Given the description of an element on the screen output the (x, y) to click on. 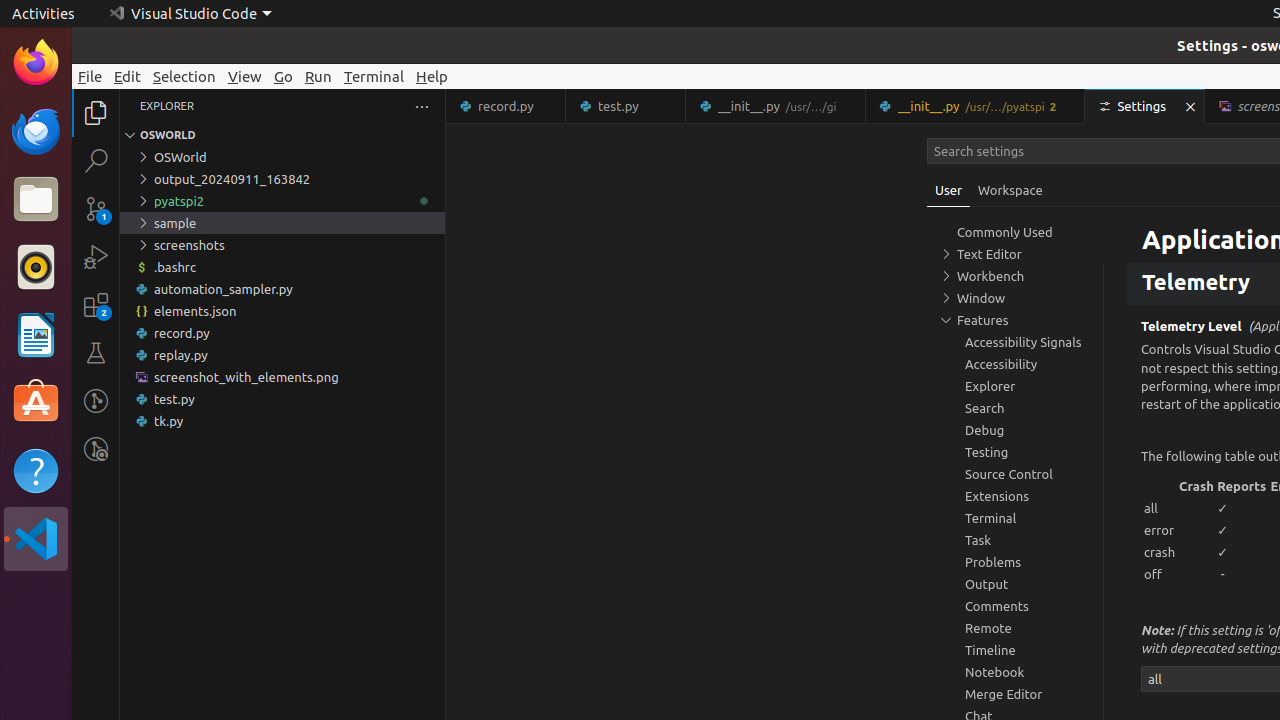
replay.py Element type: tree-item (282, 355)
Go Element type: push-button (283, 76)
automation_sampler.py Element type: tree-item (282, 289)
User Element type: check-box (949, 190)
test.py Element type: tree-item (282, 399)
